Given the description of an element on the screen output the (x, y) to click on. 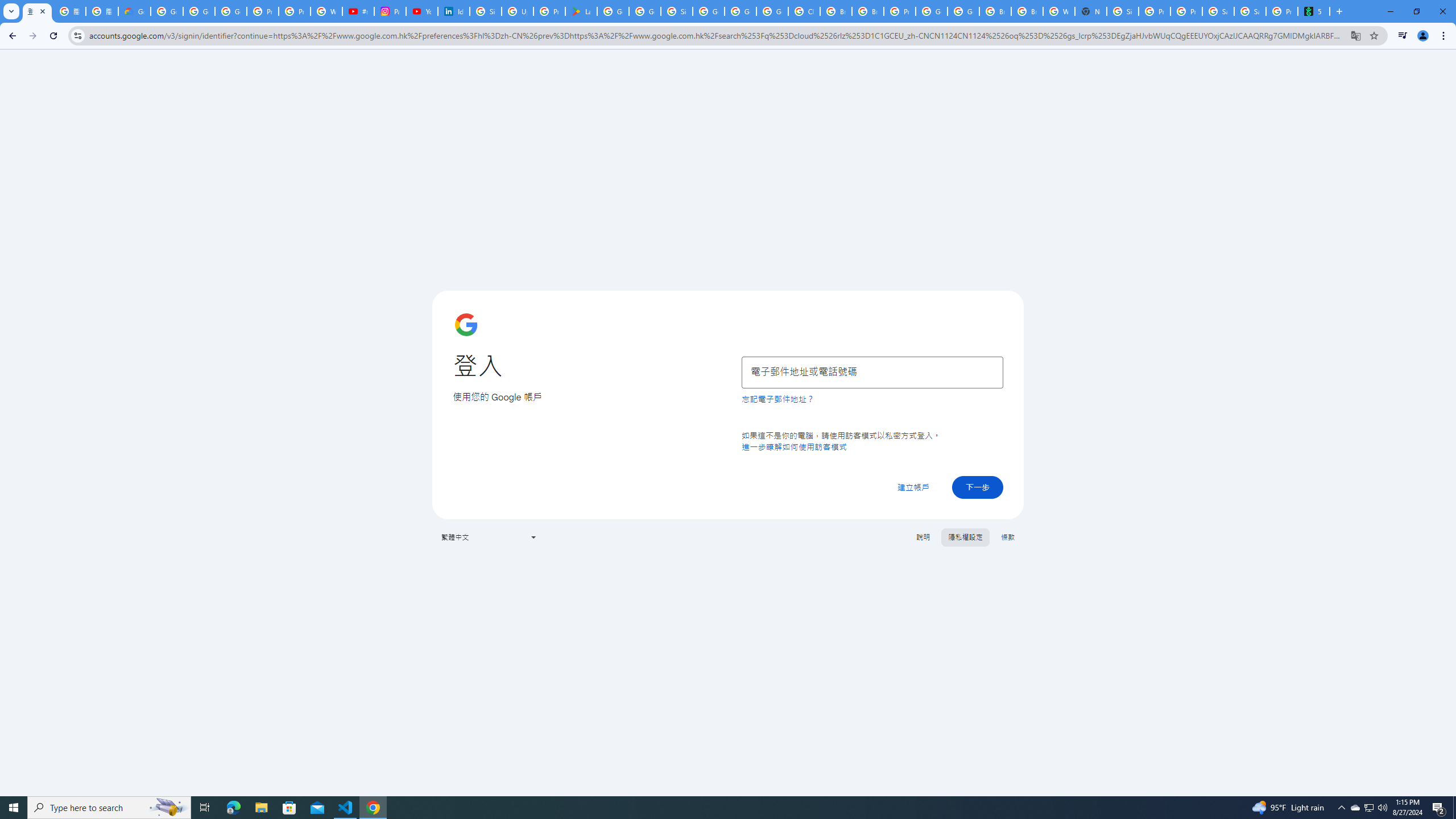
Google Cloud Platform (740, 11)
#nbabasketballhighlights - YouTube (358, 11)
Google Cloud Platform (931, 11)
